Given the description of an element on the screen output the (x, y) to click on. 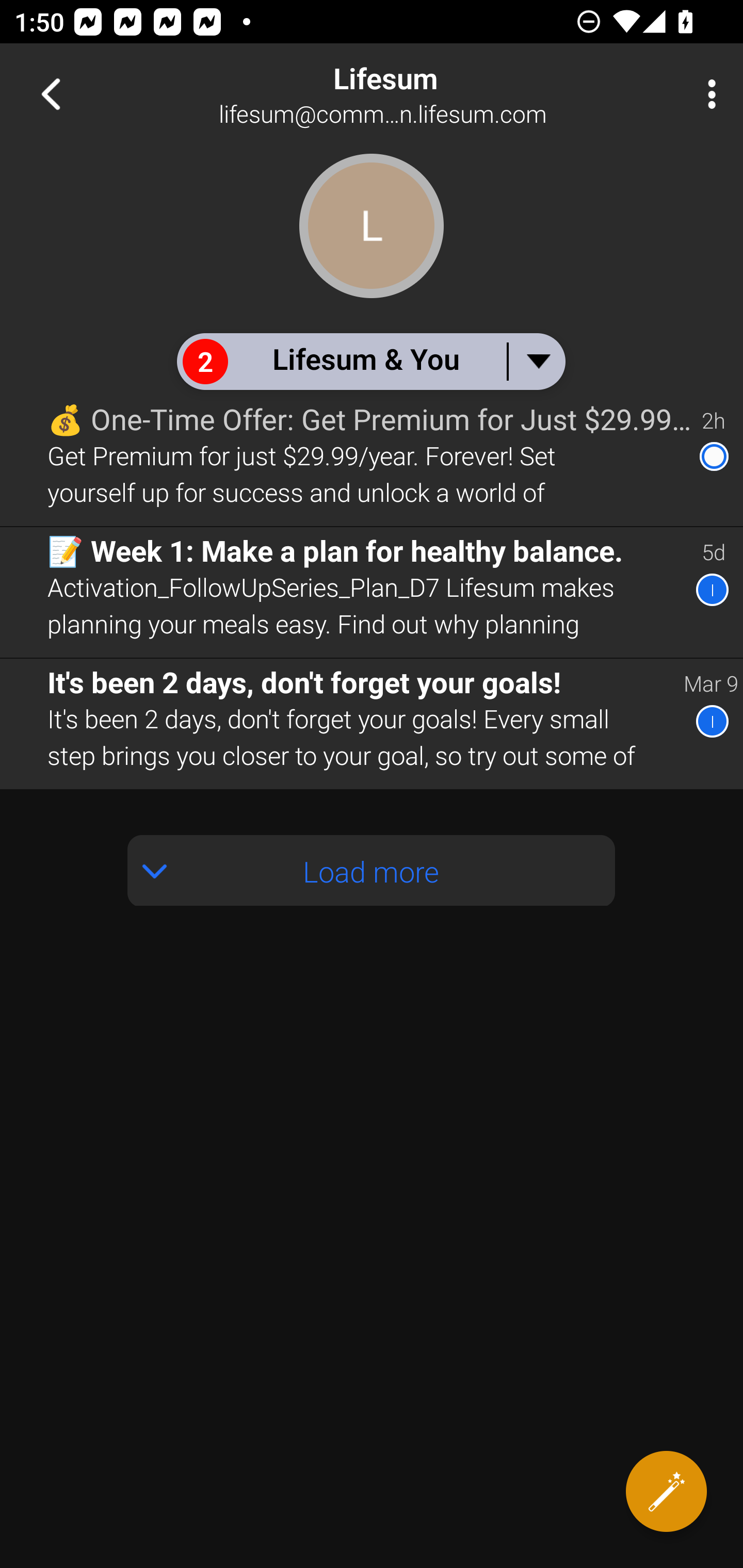
Navigate up (50, 93)
Lifesum lifesum@communication.lifesum.com (436, 93)
More Options (706, 93)
2 Lifesum & You (370, 361)
Load more (371, 870)
